Given the description of an element on the screen output the (x, y) to click on. 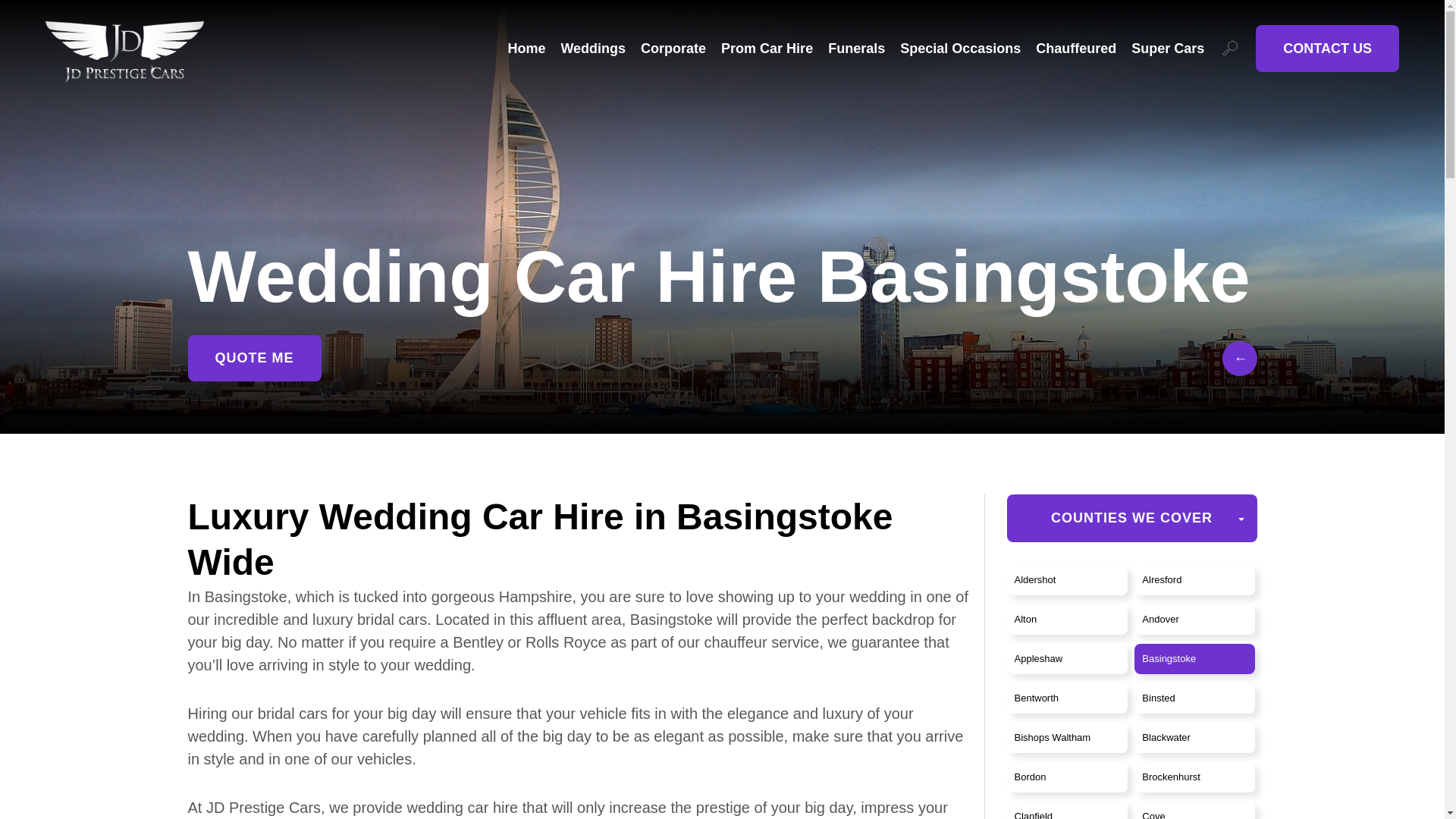
Prom Car Hire (766, 48)
Funerals (856, 48)
Chauffeured (1075, 48)
Search (1230, 47)
Home (525, 48)
Corporate (673, 48)
Weddings (593, 48)
Special Occasions (959, 48)
Super Cars (1167, 48)
CONTACT US (1327, 48)
